Given the description of an element on the screen output the (x, y) to click on. 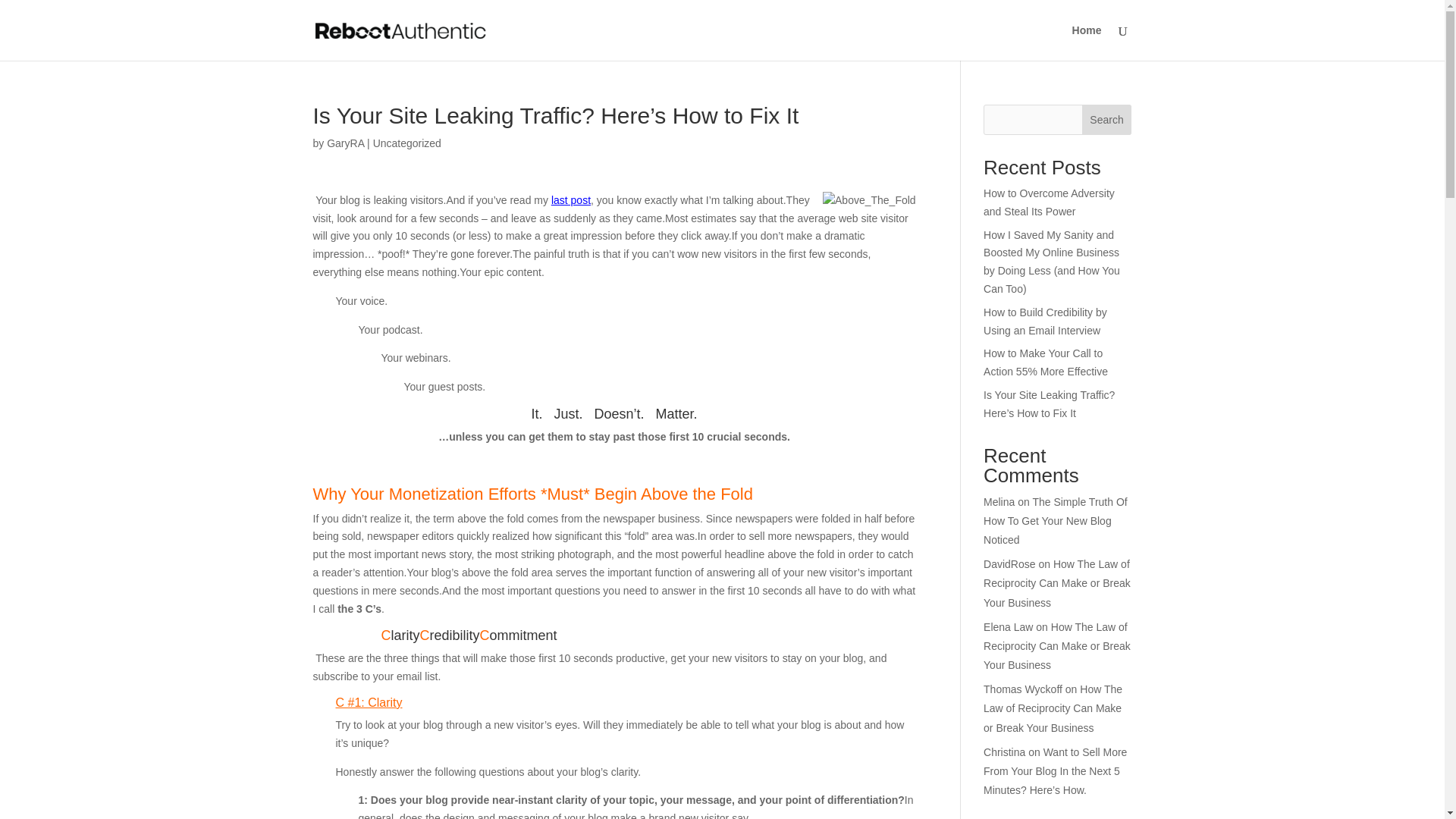
One Simple Thing You Can Do to Monetize Your Blog Today (571, 200)
Elena Law (1008, 626)
Search (1106, 119)
How to Overcome Adversity and Steal Its Power (1049, 202)
last post (571, 200)
GaryRA (345, 143)
DavidRose (1009, 563)
Uncategorized (406, 143)
Thomas Wyckoff (1023, 689)
The Simple Truth Of How To Get Your New Blog Noticed (1055, 521)
How The Law of Reciprocity Can Make or Break Your Business (1053, 708)
Melina (999, 501)
How to Build Credibility by Using an Email Interview (1045, 321)
How The Law of Reciprocity Can Make or Break Your Business (1057, 645)
Christina (1004, 752)
